Given the description of an element on the screen output the (x, y) to click on. 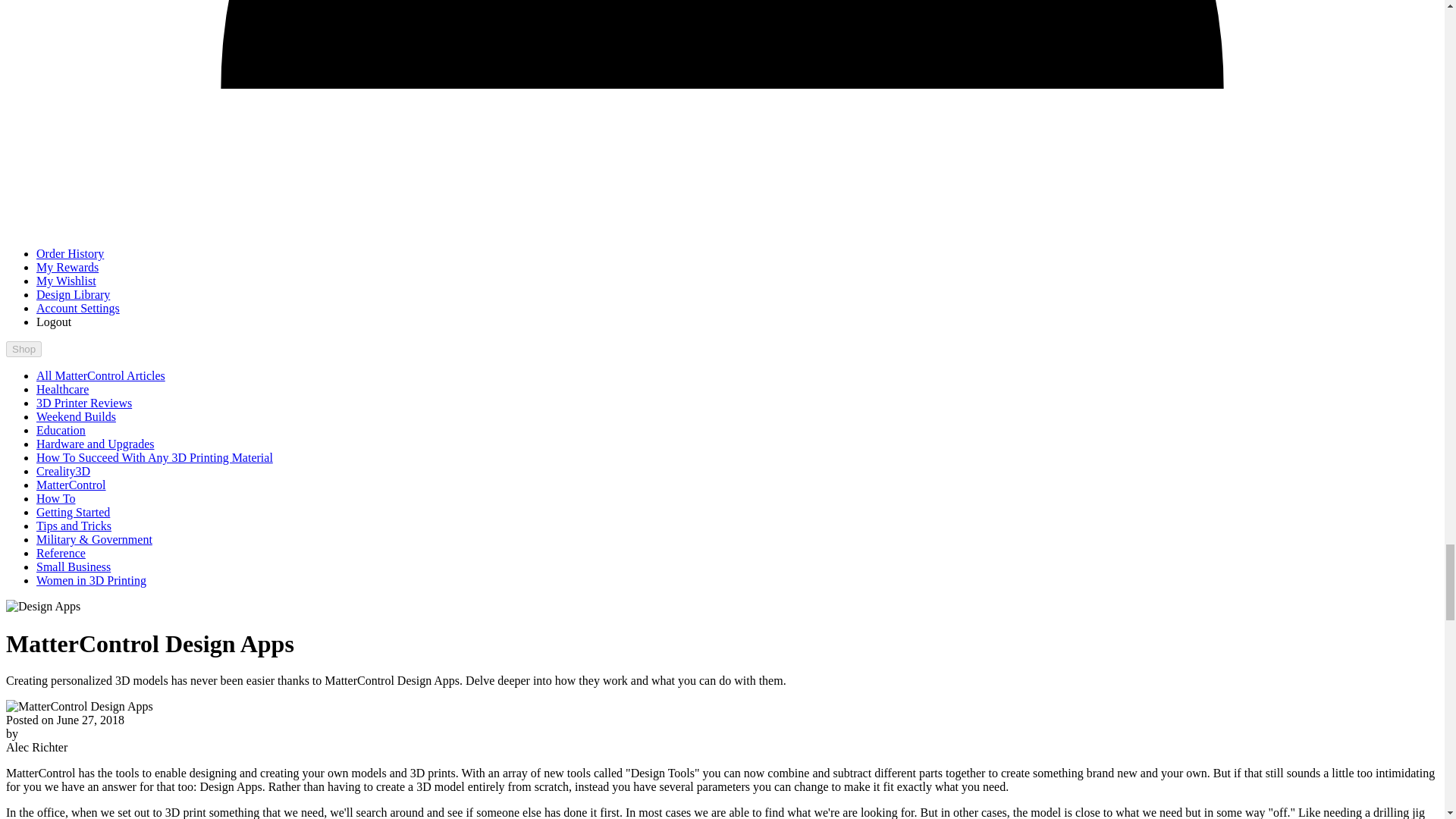
Design Library (73, 294)
My Rewards (67, 267)
My Wishlist (66, 280)
Design Apps (78, 706)
Order History (69, 253)
Design Apps (42, 606)
Account Settings (77, 308)
Shop (23, 349)
